Given the description of an element on the screen output the (x, y) to click on. 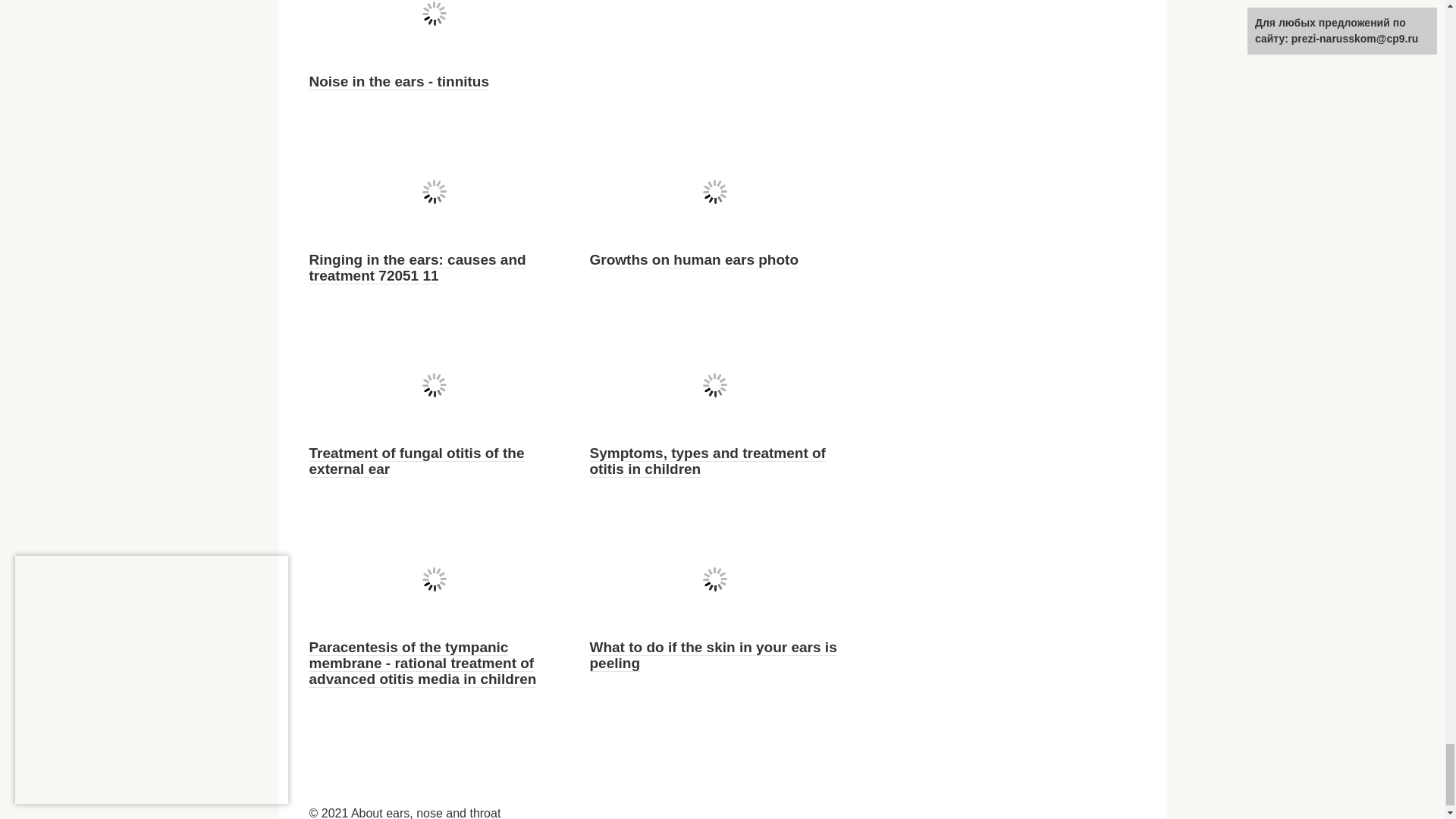
Treatment of fungal otitis of the external ear (416, 461)
Growths on human ears photo (694, 259)
Noise in the ears - tinnitus (398, 81)
Symptoms, types and treatment of otitis in children (707, 461)
Ringing in the ears: causes and treatment 72051 11 (416, 267)
